Given the description of an element on the screen output the (x, y) to click on. 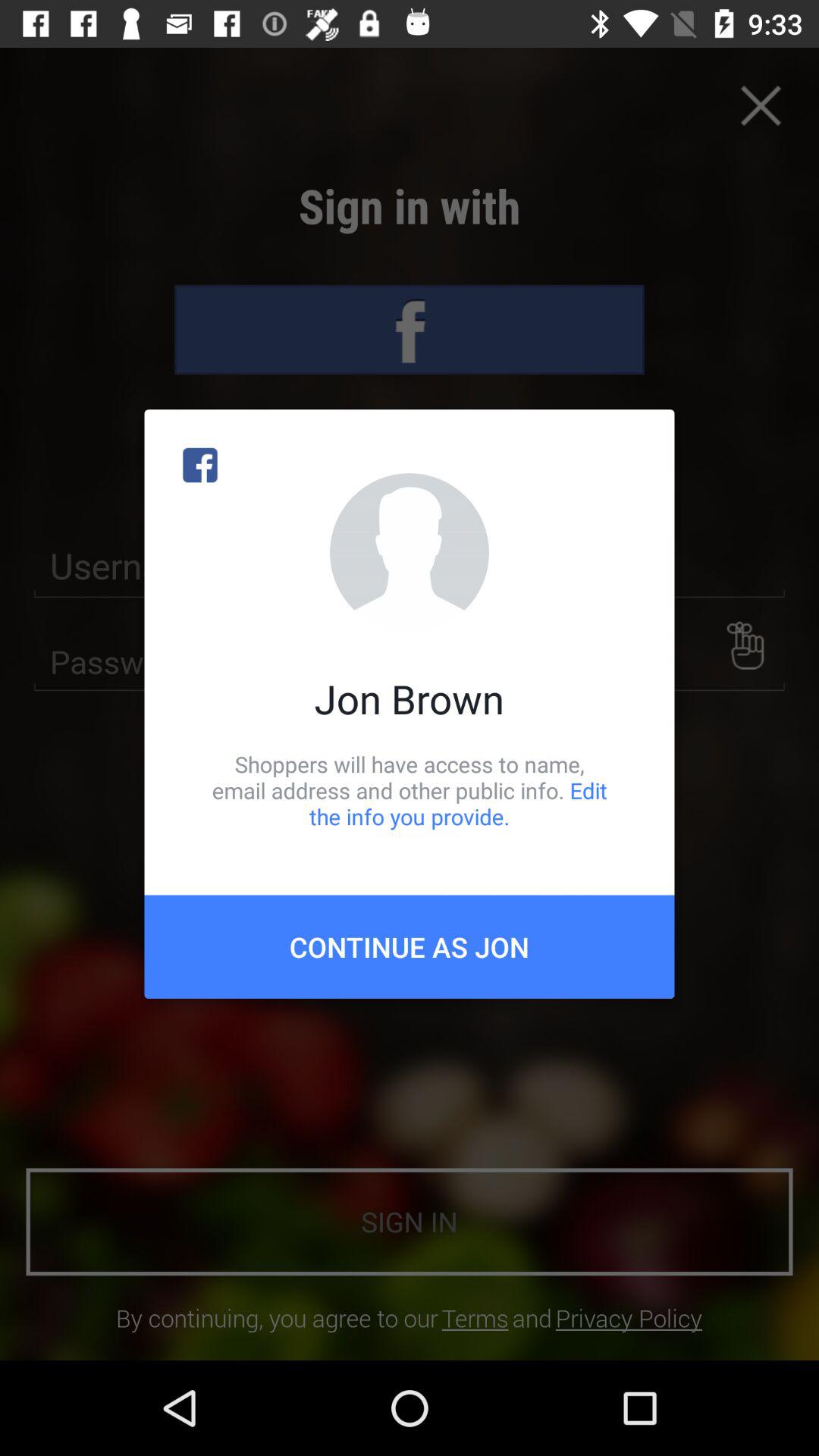
press icon below shoppers will have (409, 946)
